Given the description of an element on the screen output the (x, y) to click on. 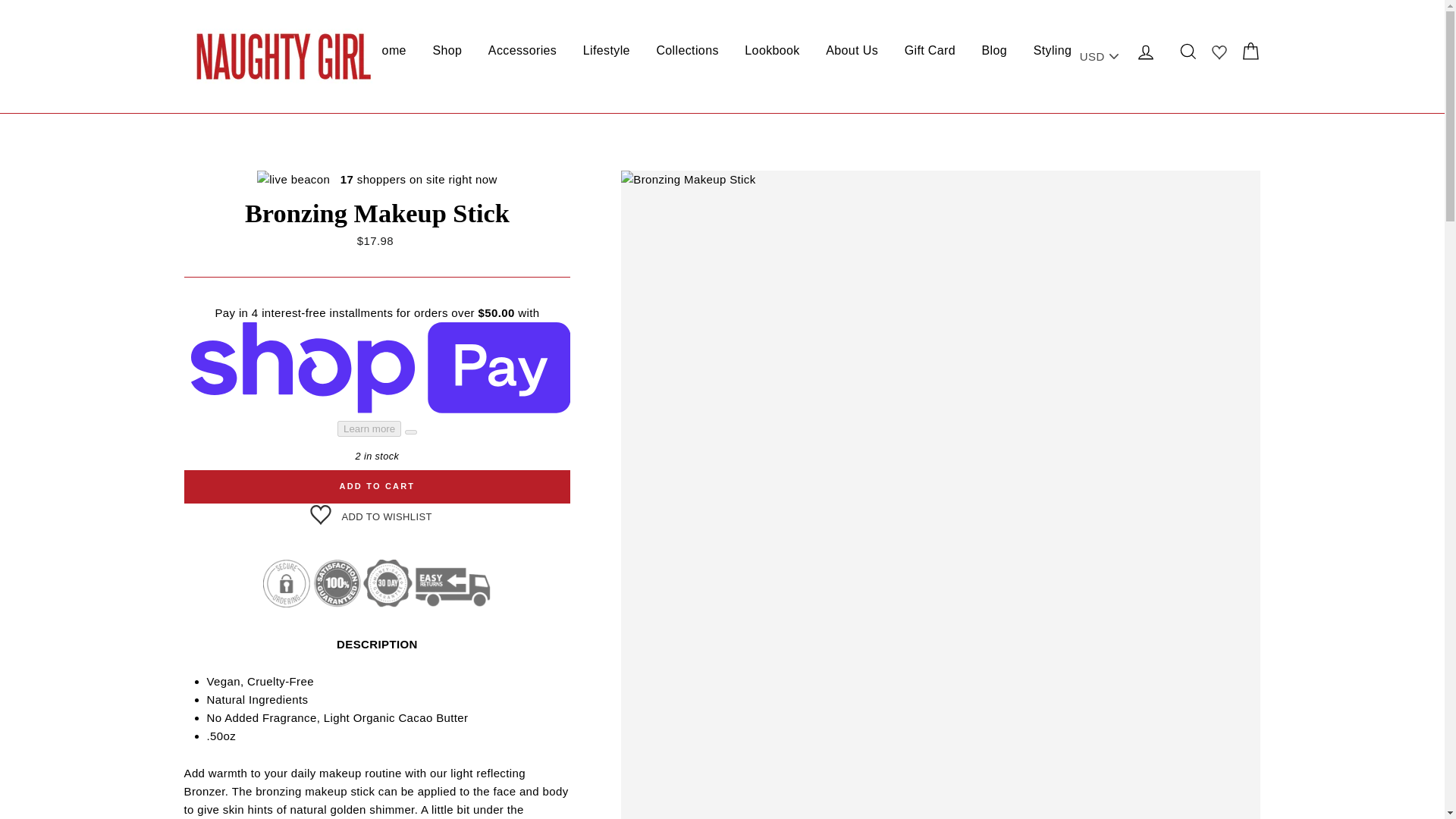
Add to Wishlist (376, 512)
Our Trust Icons (376, 583)
